Given the description of an element on the screen output the (x, y) to click on. 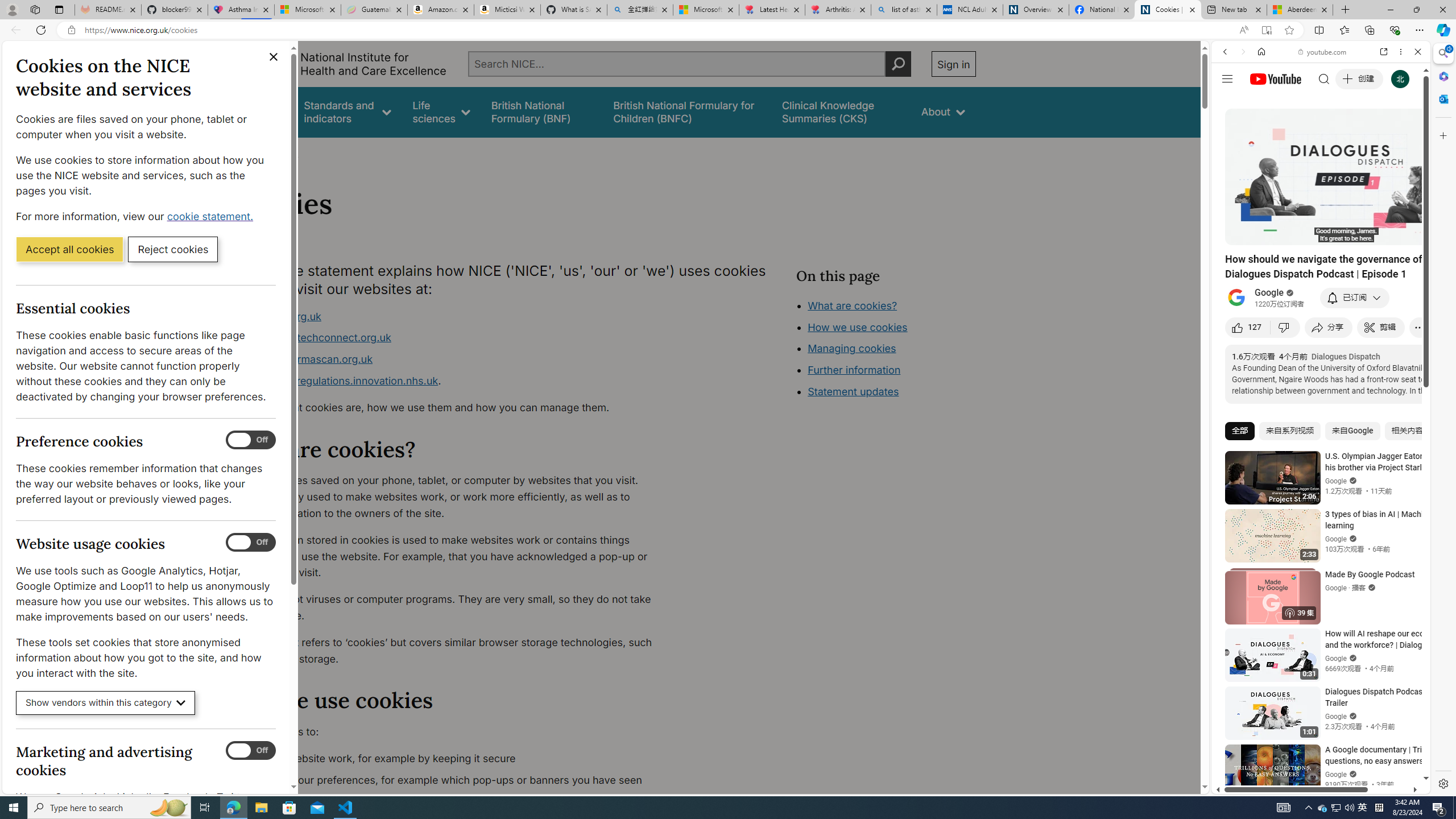
Life sciences (440, 111)
Class: b_serphb (1404, 130)
About (283, 152)
Trailer #2 [HD] (1320, 336)
Search videos from youtube.com (1299, 373)
Home> (246, 152)
